Given the description of an element on the screen output the (x, y) to click on. 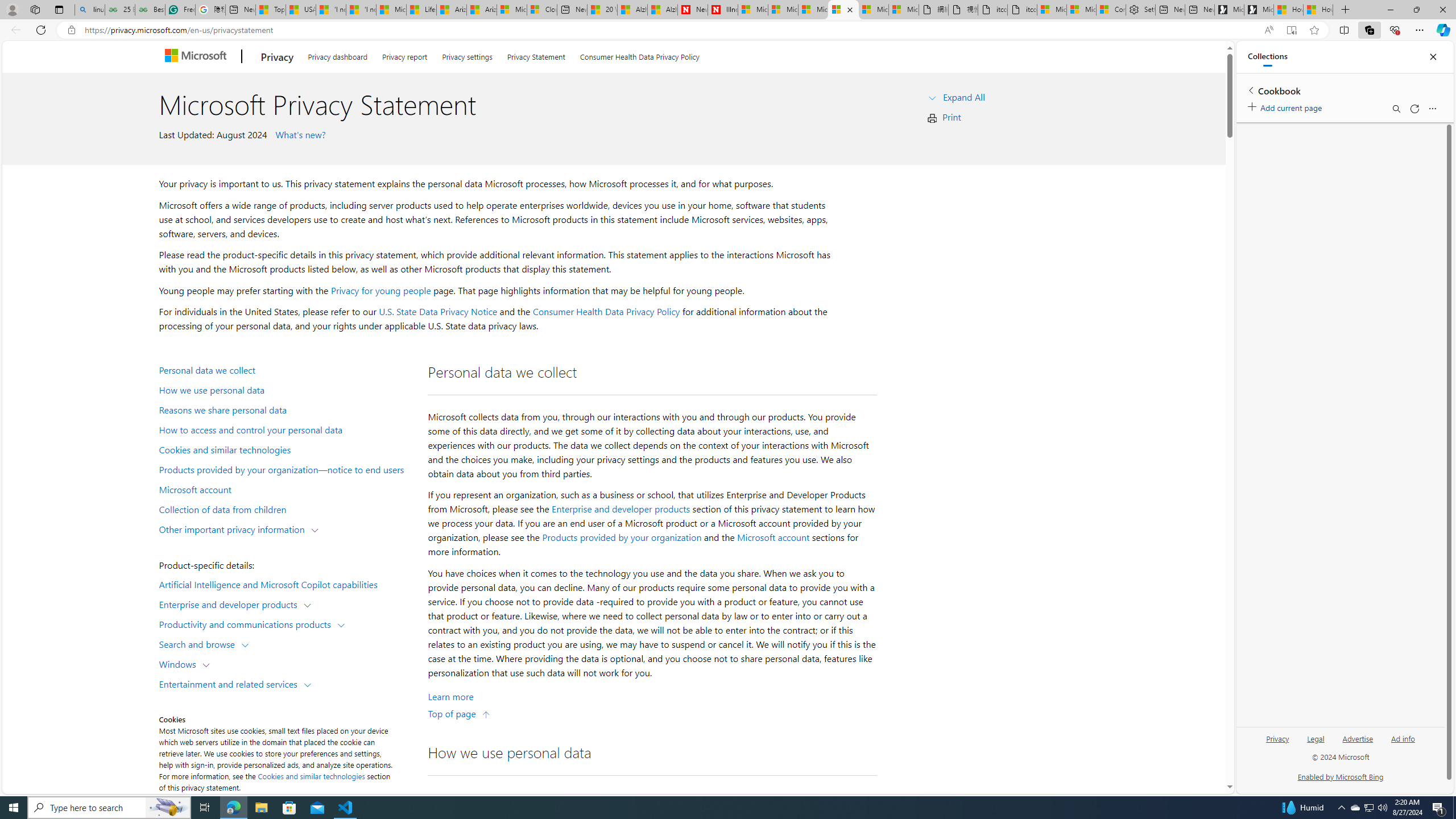
Artificial Intelligence and Microsoft Copilot capabilities (287, 583)
Back to list of collections (1250, 90)
How to access and control your personal data (287, 428)
 What's new? (299, 133)
Privacy settings (466, 54)
Enterprise and developer products (620, 508)
Enterprise and developer products (230, 603)
Privacy dashboard (337, 54)
itconcepthk.com/projector_solutions.mp4 (1022, 9)
Other important privacy information (234, 528)
Cloud Computing Services | Microsoft Azure (542, 9)
Consumer Health Data Privacy Policy (605, 311)
Microsoft Services Agreement (782, 9)
